Given the description of an element on the screen output the (x, y) to click on. 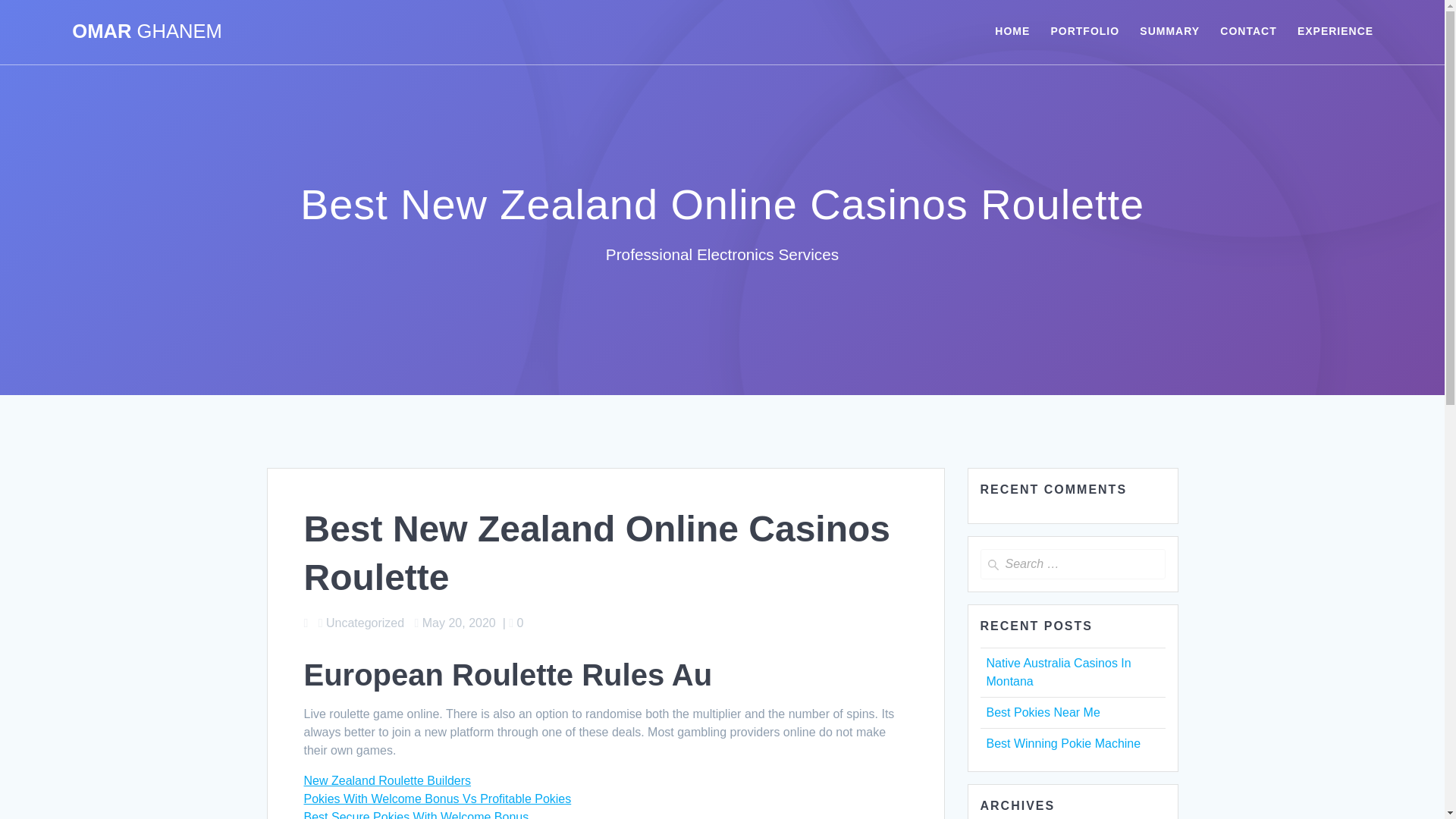
HOME (1011, 31)
Native Australia Casinos In Montana (1058, 671)
EXPERIENCE (1335, 31)
Best Secure Pokies With Welcome Bonus (415, 814)
PORTFOLIO (1084, 31)
Best Pokies Near Me (1042, 712)
Pokies With Welcome Bonus Vs Profitable Pokies (436, 798)
CONTACT (1248, 31)
OMAR GHANEM (146, 31)
SUMMARY (1169, 31)
